Given the description of an element on the screen output the (x, y) to click on. 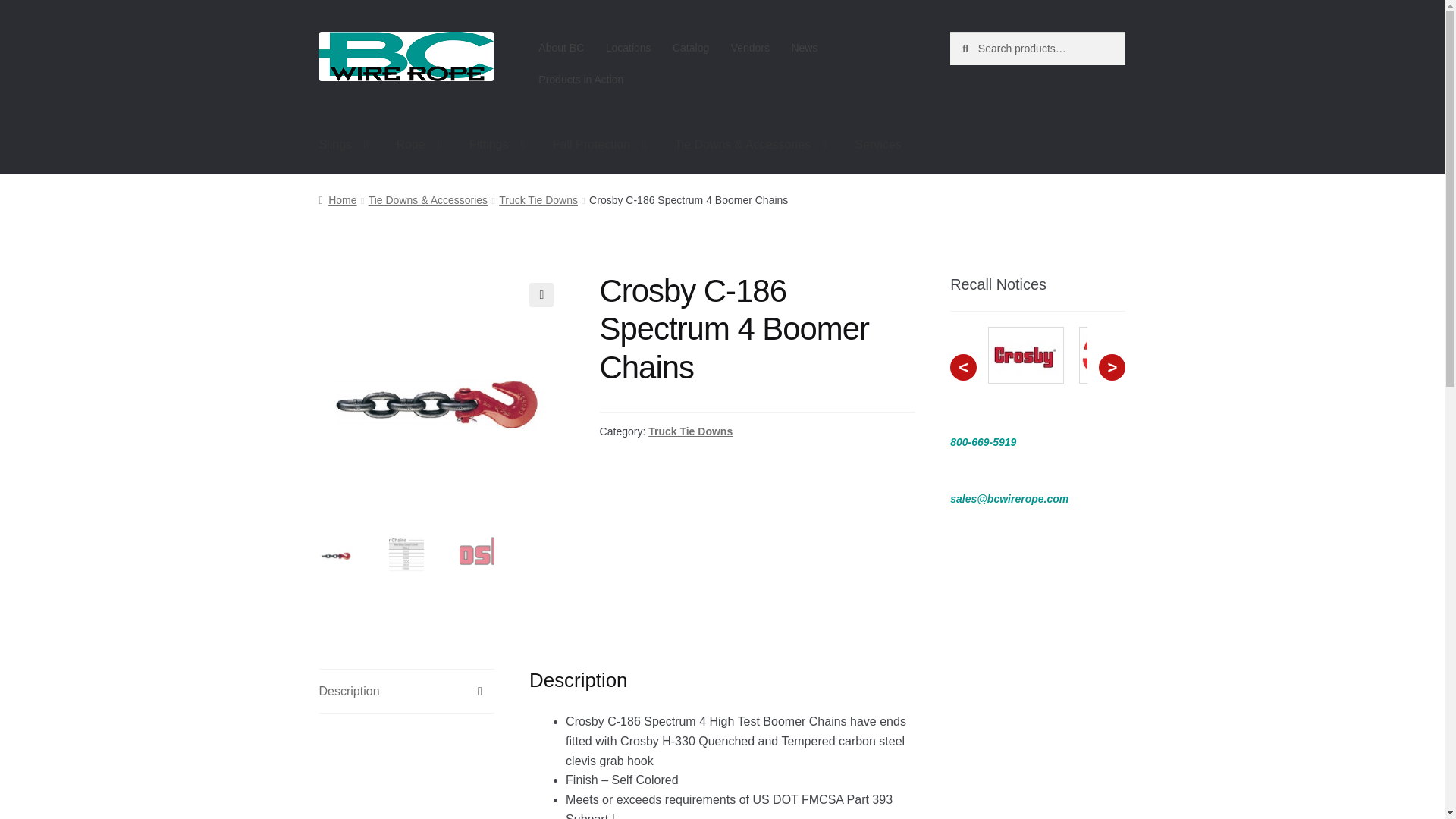
Catalog (691, 47)
Locations (627, 47)
Crosby C-186 Boomer Chains (441, 394)
About BC (560, 47)
Rope (418, 144)
Fall Protection (599, 144)
Crosby C-186 Table (686, 293)
Fittings (497, 144)
Vendors (749, 47)
